Given the description of an element on the screen output the (x, y) to click on. 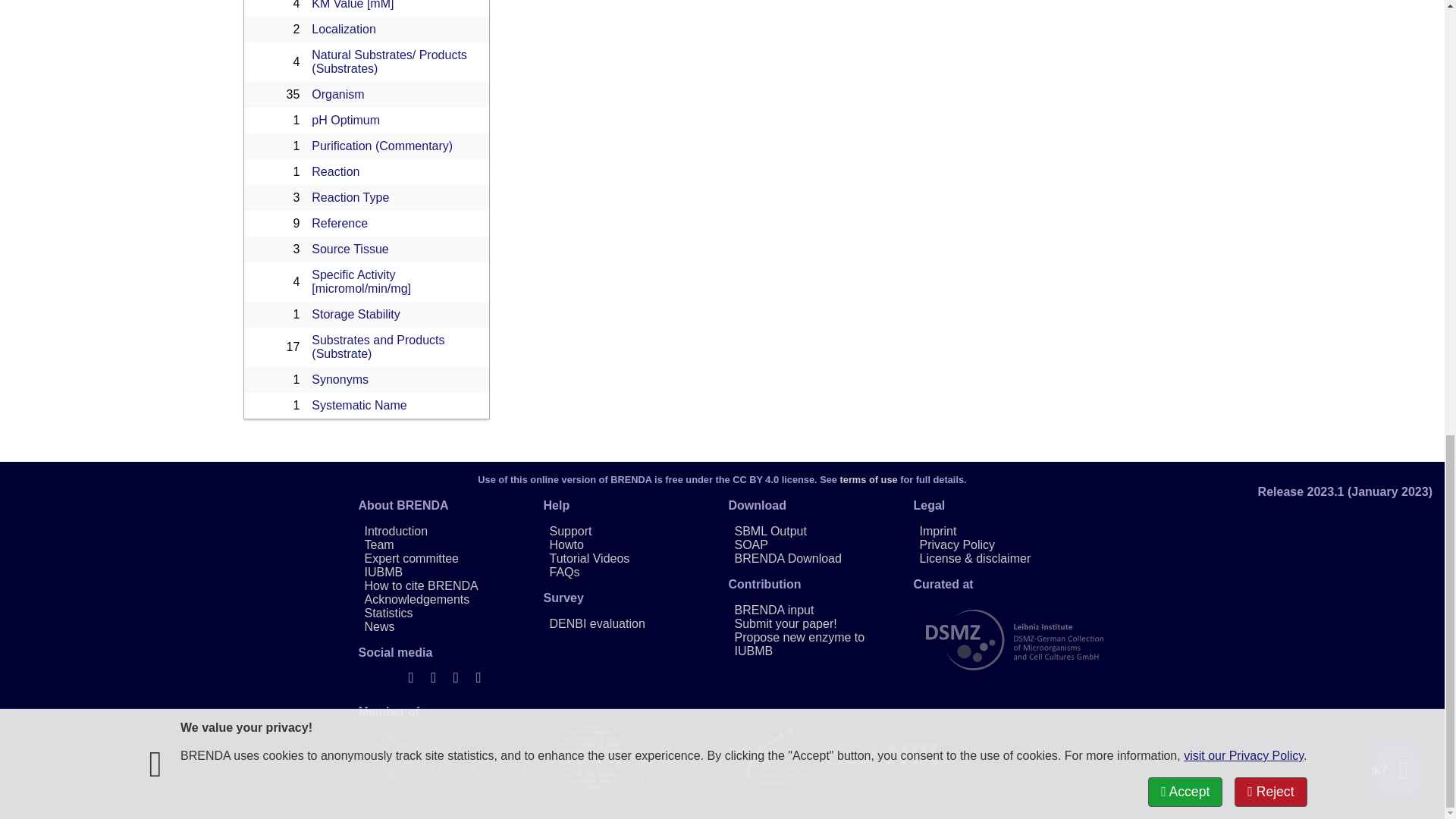
Reaction Type (349, 196)
pH Optimum (345, 119)
Source Tissue (349, 248)
Storage Stability (355, 314)
Reference (339, 223)
Localization (343, 29)
Reaction (335, 171)
Organism (337, 93)
